Given the description of an element on the screen output the (x, y) to click on. 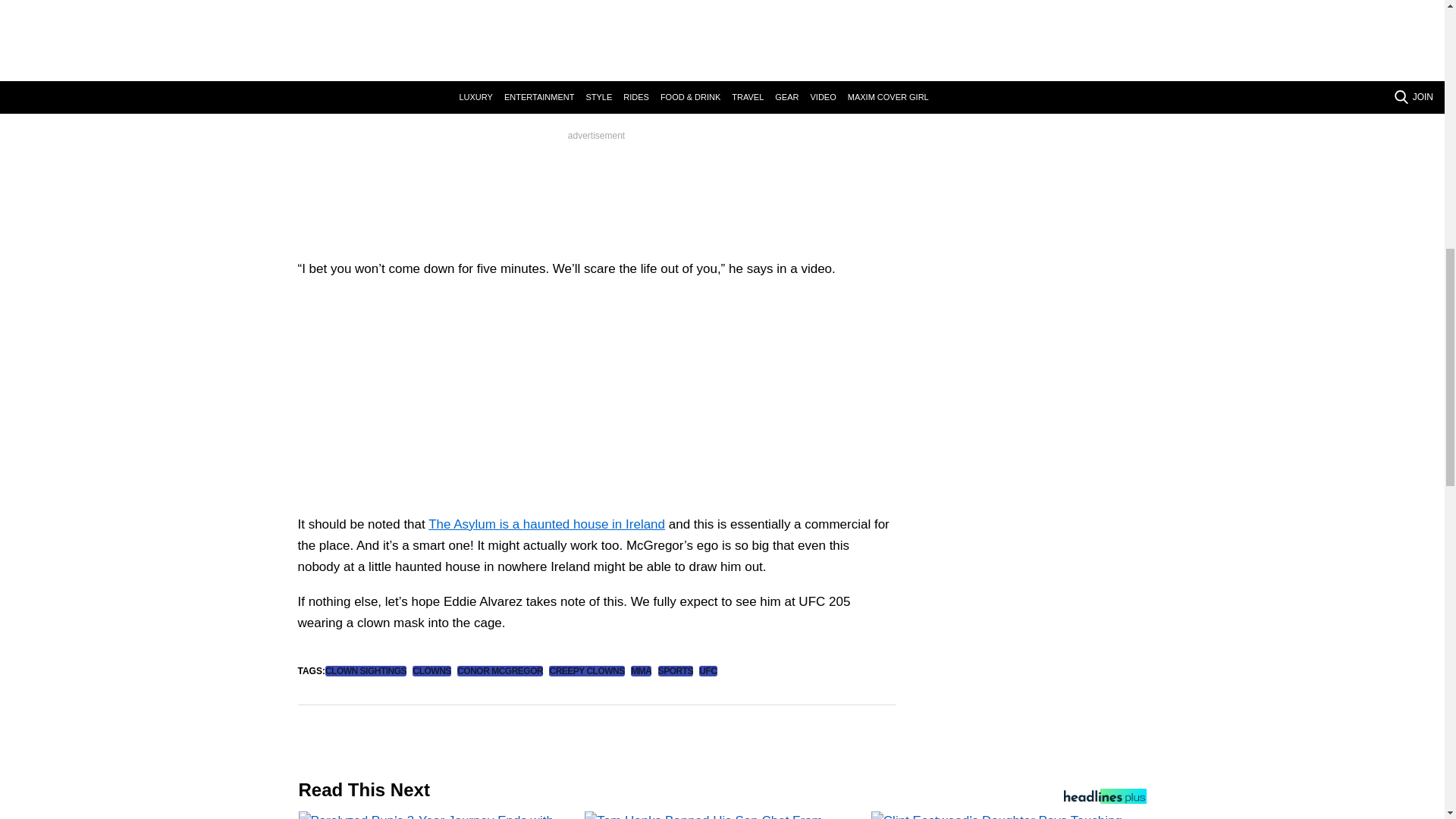
Asylum Clown not happy with Conor McGregor (487, 399)
